Given the description of an element on the screen output the (x, y) to click on. 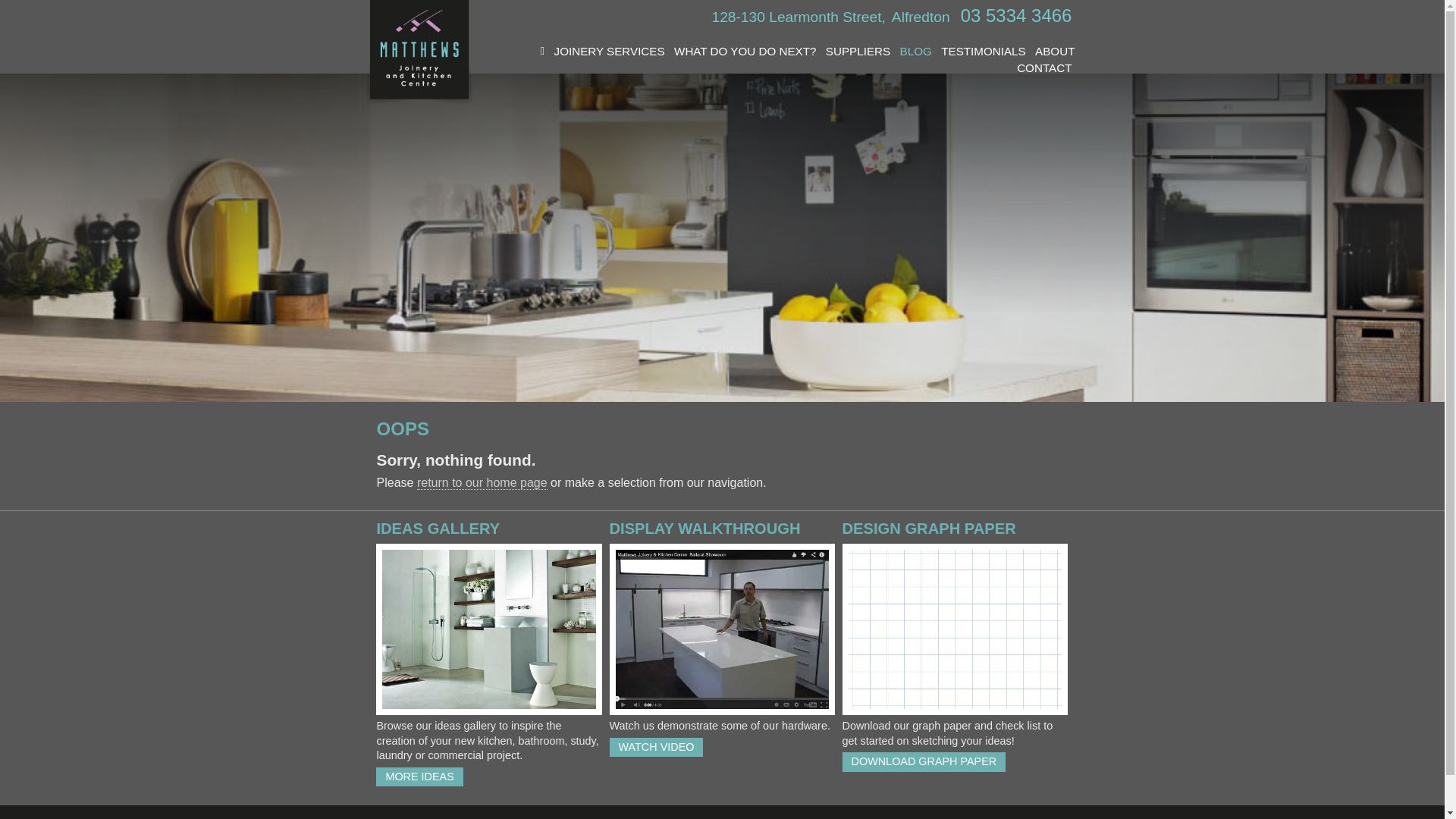
MORE IDEAS Element type: text (419, 776)
CONTACT Element type: text (1043, 68)
WATCH VIDEO Element type: text (656, 746)
ABOUT Element type: text (1054, 51)
return to our home page Element type: text (482, 482)
BLOG Element type: text (915, 51)
DOWNLOAD GRAPH PAPER Element type: text (924, 761)
Matthews Joinery Element type: text (418, 53)
HOME Element type: text (538, 58)
WHAT DO YOU DO NEXT? Element type: text (744, 51)
TESTIMONIALS Element type: text (983, 51)
SUPPLIERS Element type: text (857, 51)
JOINERY SERVICES Element type: text (609, 51)
